Given the description of an element on the screen output the (x, y) to click on. 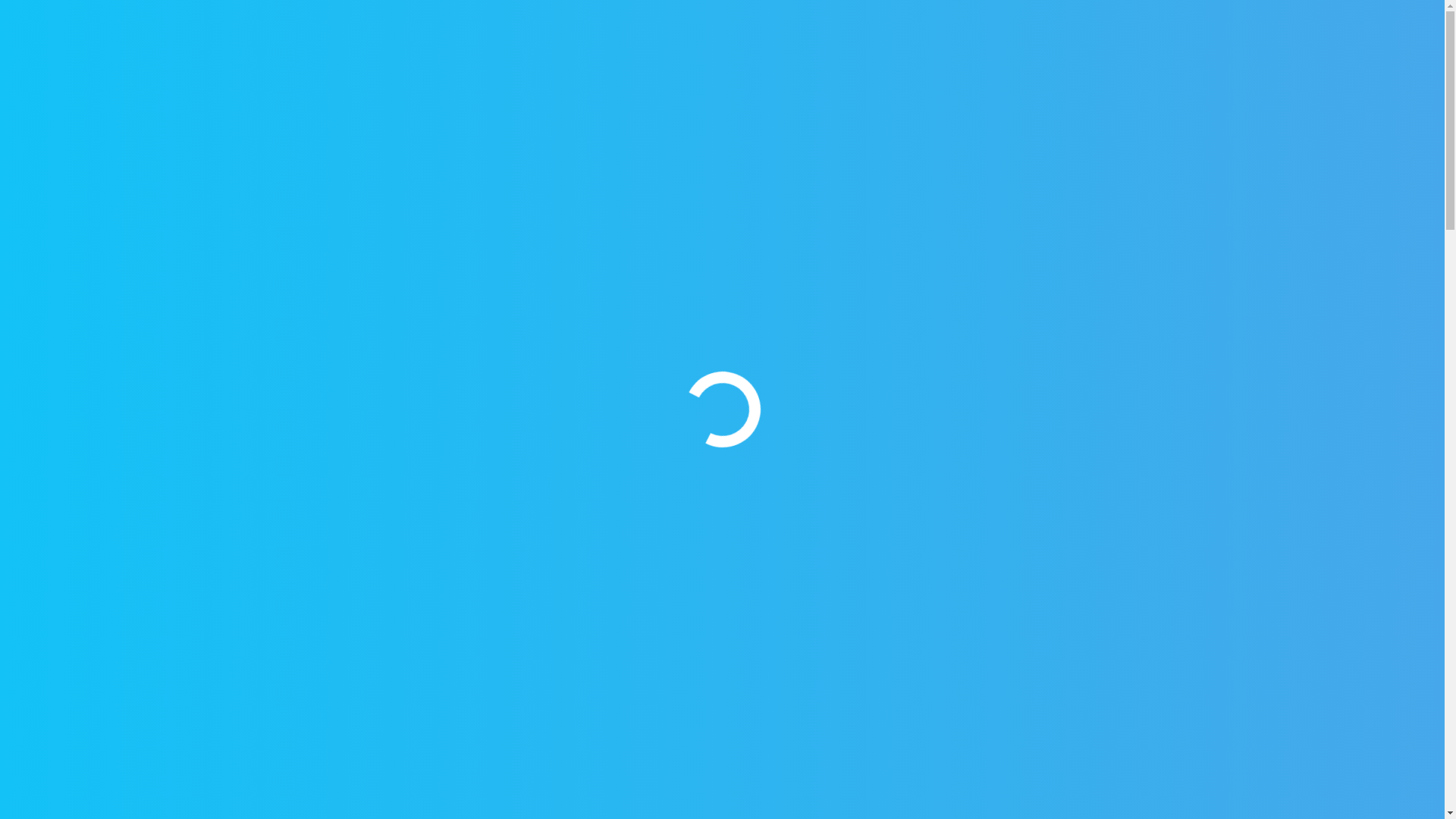
Go (473, 429)
View all posts by admin (686, 456)
Home (370, 256)
Go (473, 429)
Go (1194, 66)
Admin (686, 456)
Request Callback (99, 16)
Search here (374, 429)
View Plans (1336, 67)
